Given the description of an element on the screen output the (x, y) to click on. 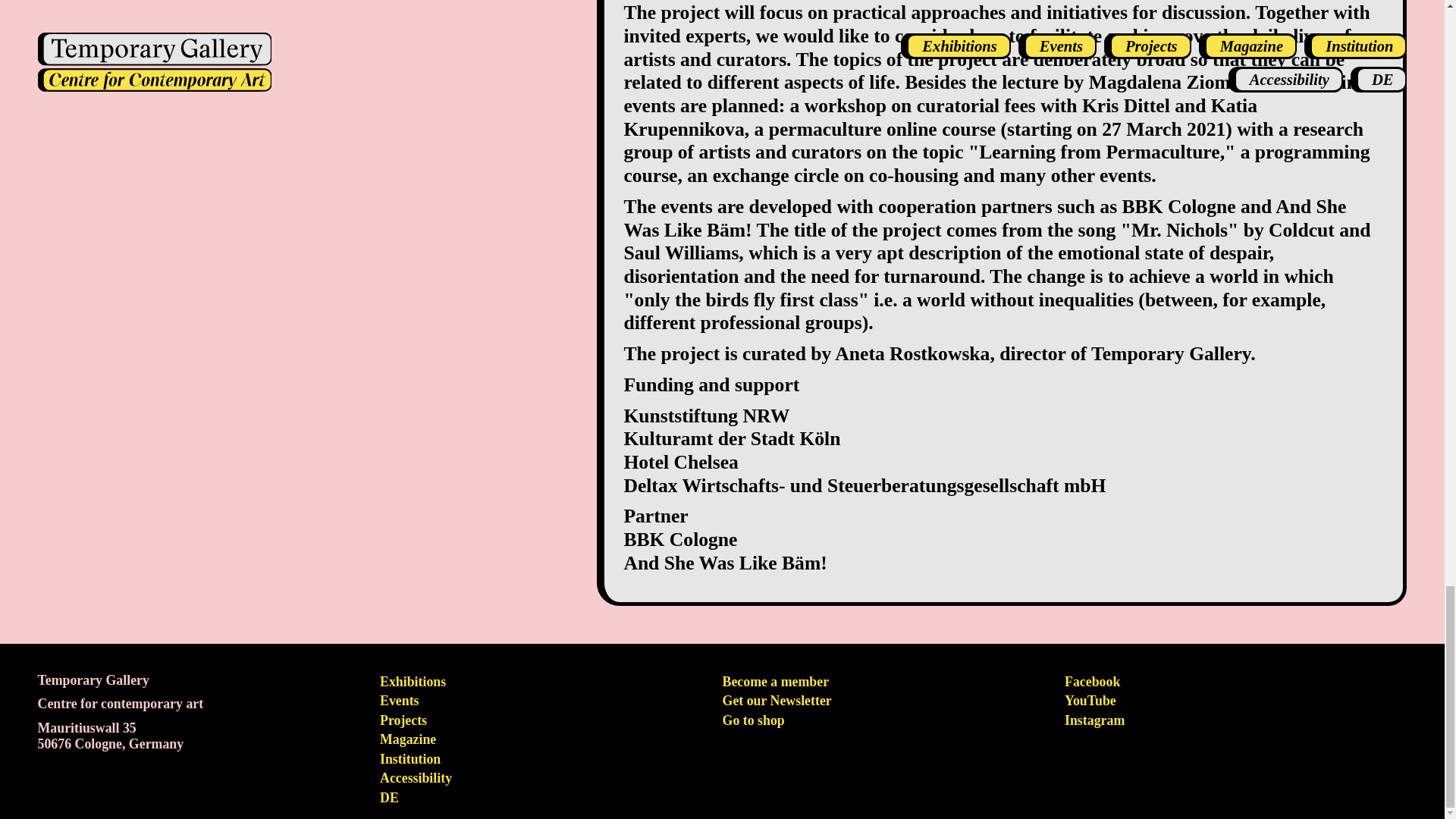
Magazine (407, 739)
YouTube (1090, 700)
Accessibility (415, 777)
Get our Newsletter (776, 700)
Projects (403, 720)
Become a member (775, 681)
Exhibitions (412, 681)
Events (399, 700)
Facebook (1091, 681)
Institution (410, 758)
